Given the description of an element on the screen output the (x, y) to click on. 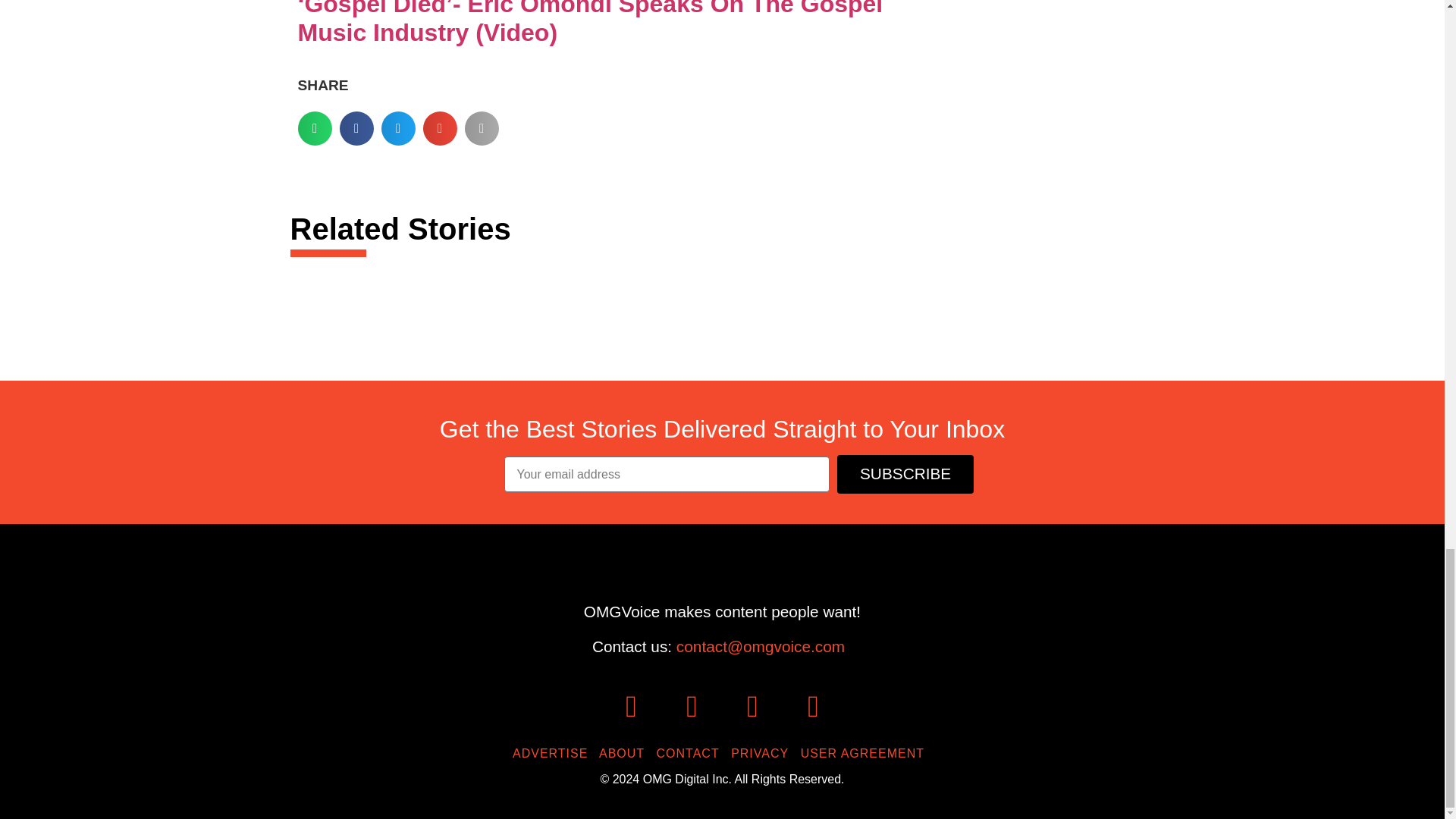
ADVERTISE (553, 753)
ABOUT (625, 753)
USER AGREEMENT (865, 753)
SUBSCRIBE (905, 474)
PRIVACY (763, 753)
CONTACT (691, 753)
